Given the description of an element on the screen output the (x, y) to click on. 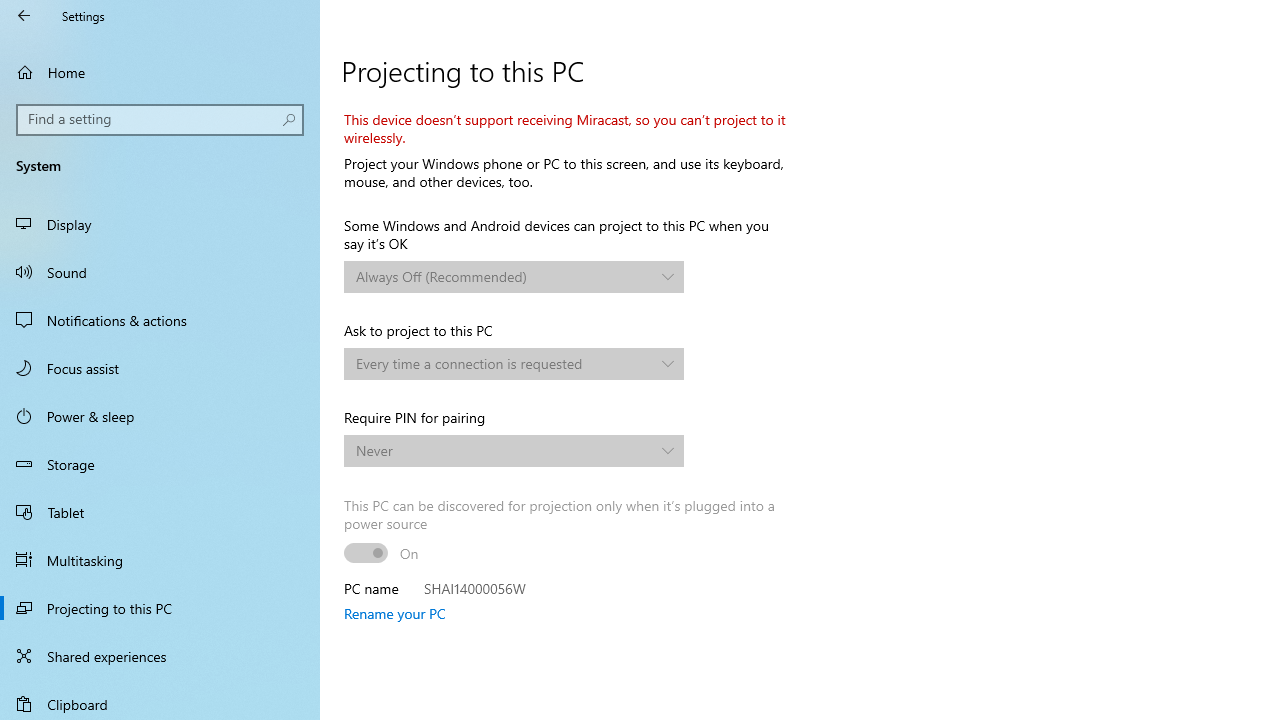
Notifications & actions (160, 319)
Projecting to this PC (160, 607)
Require PIN for pairing (513, 450)
Shared experiences (160, 655)
Power & sleep (160, 415)
Sound (160, 271)
Storage (160, 463)
Always Off (Recommended) (503, 276)
Display (160, 223)
Never (503, 450)
Multitasking (160, 559)
